Given the description of an element on the screen output the (x, y) to click on. 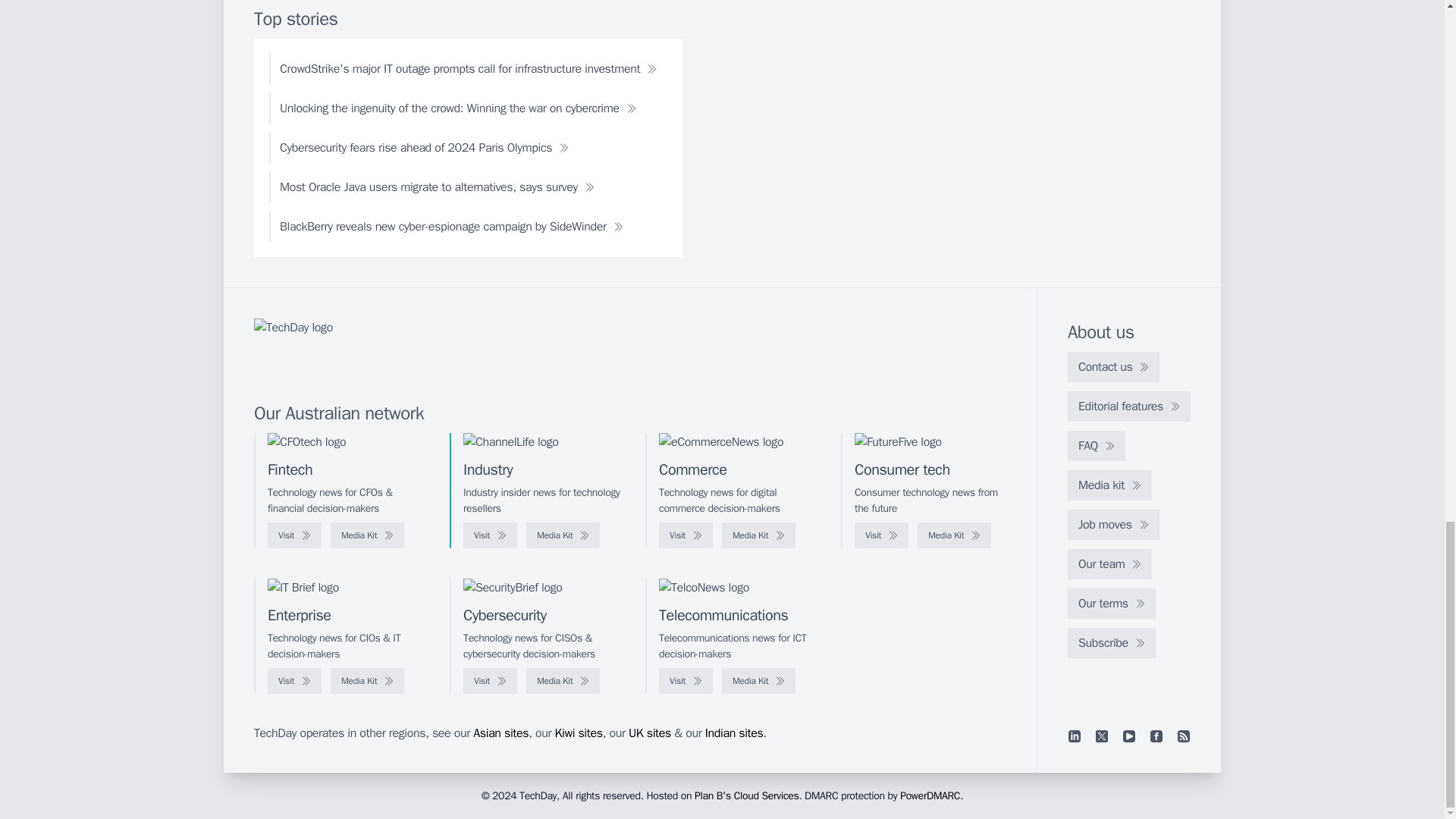
Visit (881, 534)
Visit (489, 534)
Most Oracle Java users migrate to alternatives, says survey (437, 186)
Visit (686, 534)
Media Kit (758, 534)
Media Kit (954, 534)
Cybersecurity fears rise ahead of 2024 Paris Olympics (424, 147)
Media Kit (562, 534)
Media Kit (367, 534)
Visit (294, 534)
